Given the description of an element on the screen output the (x, y) to click on. 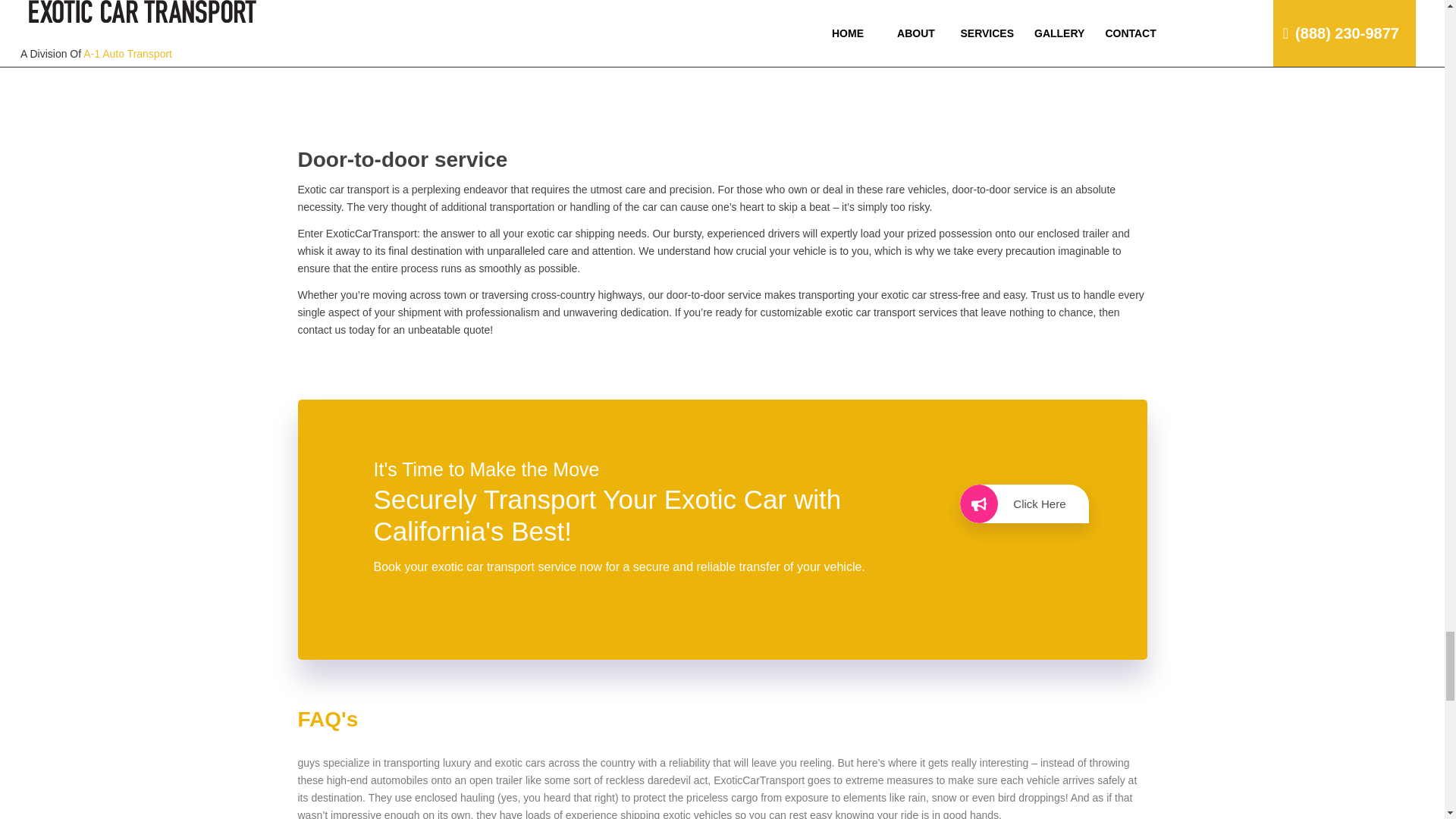
Click Here (1023, 503)
